Given the description of an element on the screen output the (x, y) to click on. 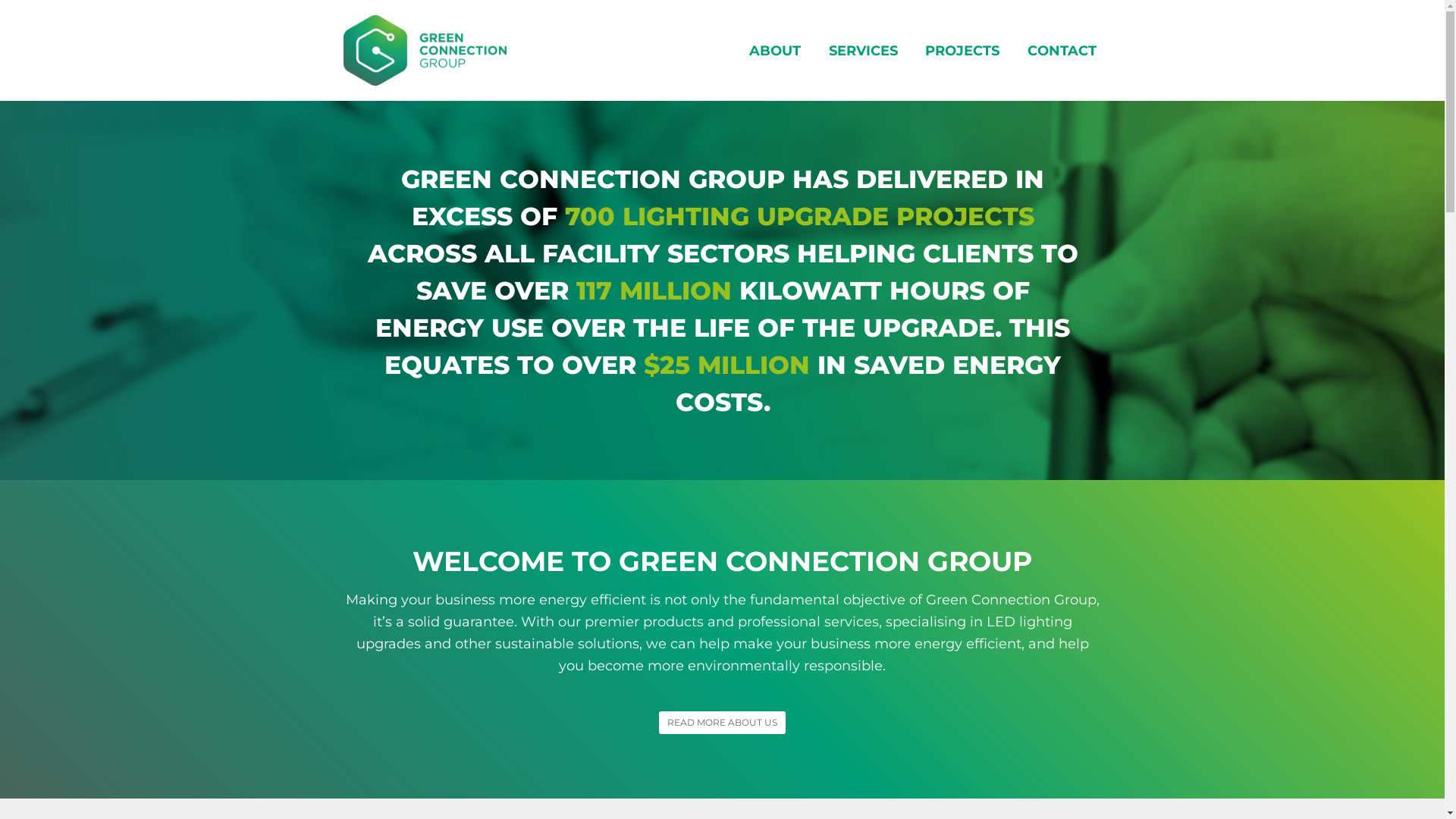
ABOUT Element type: text (774, 50)
PROJECTS Element type: text (962, 50)
CONTACT Element type: text (1061, 50)
Green Connection Group Element type: hover (424, 48)
SERVICES Element type: text (862, 50)
READ MORE ABOUT US Element type: text (721, 722)
